Given the description of an element on the screen output the (x, y) to click on. 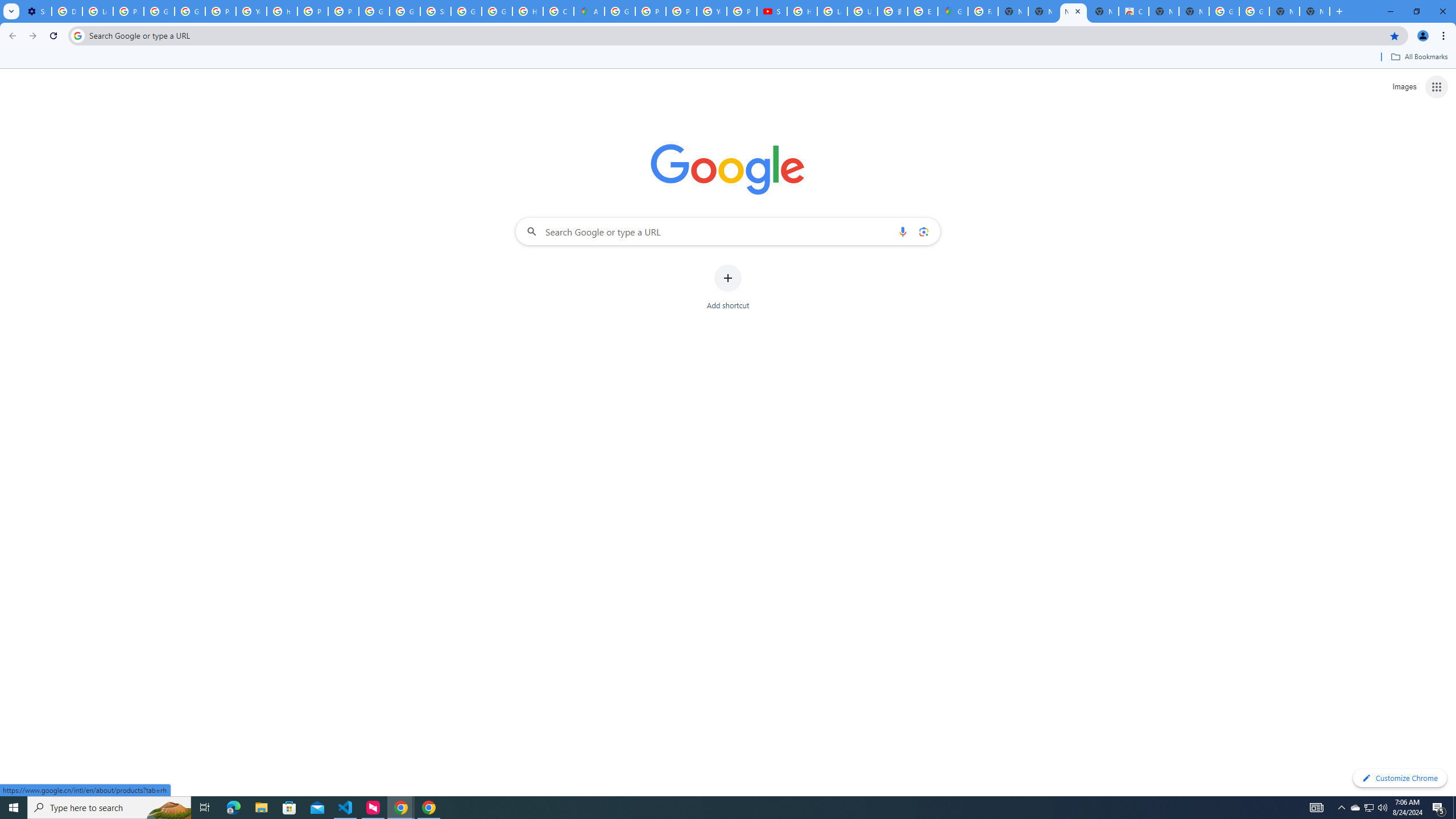
How Chrome protects your passwords - Google Chrome Help (801, 11)
Sign in - Google Accounts (434, 11)
Google Maps (952, 11)
Subscriptions - YouTube (771, 11)
Google Images (1254, 11)
Add shortcut (727, 287)
Settings - Performance (36, 11)
